Given the description of an element on the screen output the (x, y) to click on. 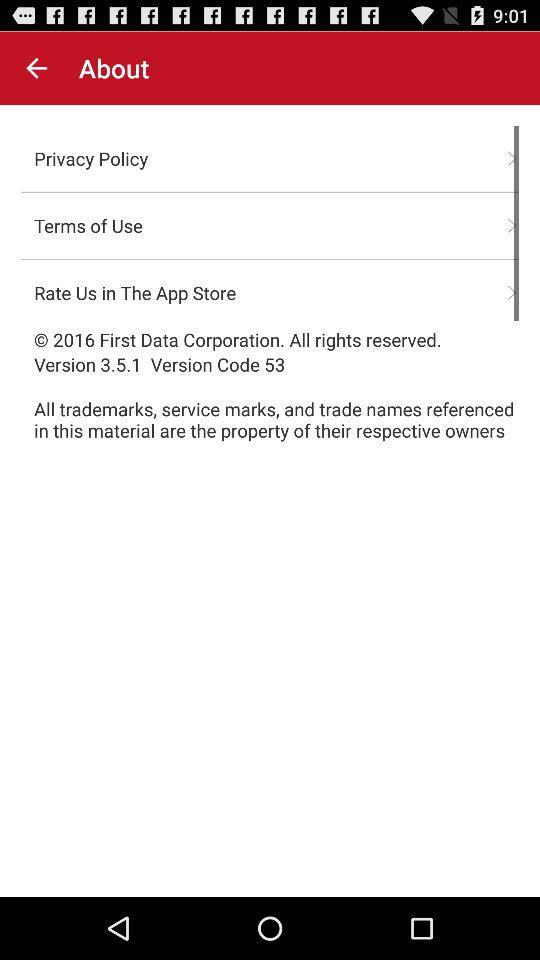
launch the item above privacy policy app (36, 68)
